Given the description of an element on the screen output the (x, y) to click on. 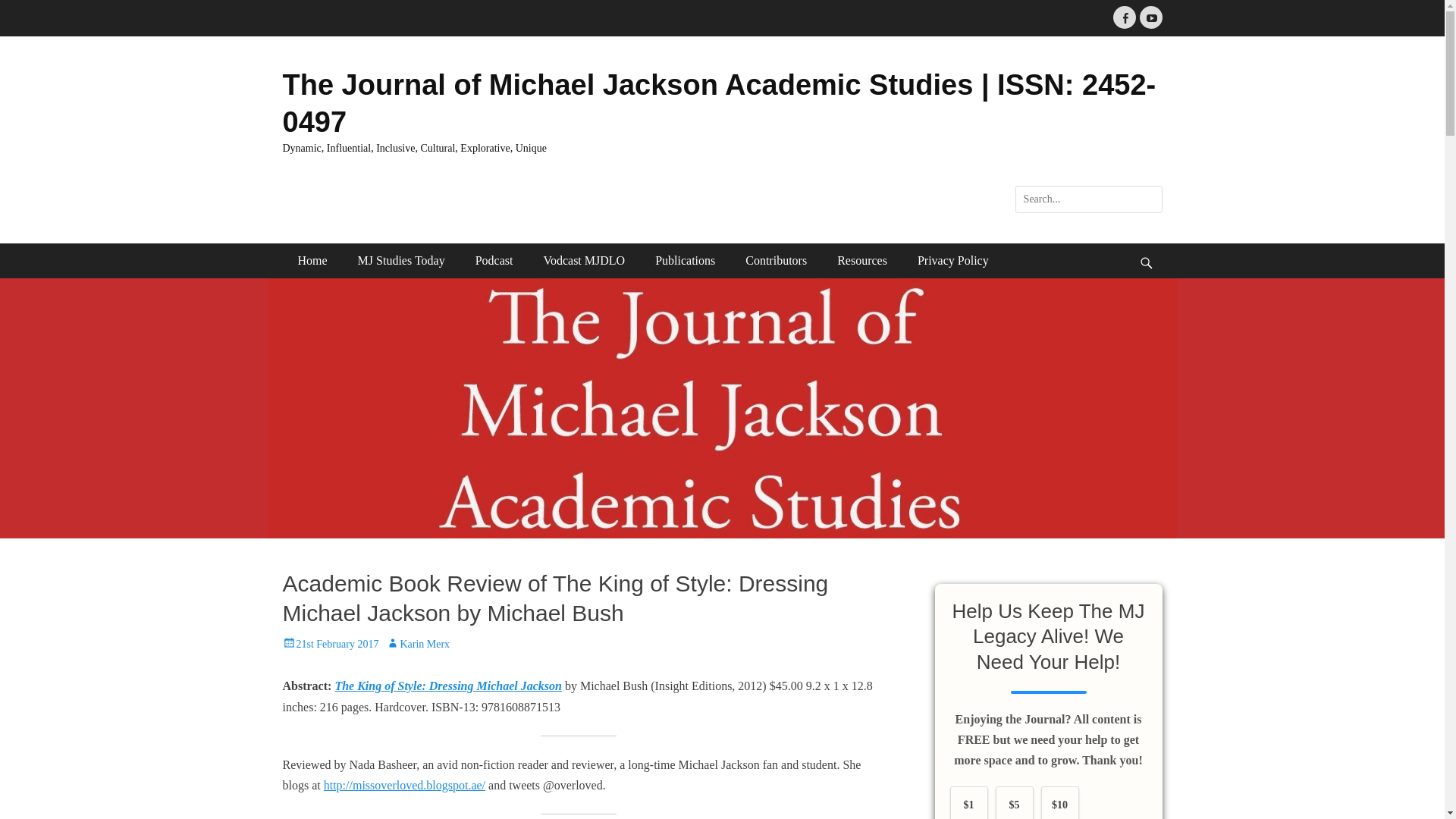
YouTube (1149, 16)
Privacy Policy (953, 260)
Karin Merx (417, 644)
21st February 2017 (330, 644)
Search (22, 9)
The King of Style: Dressing Michael Jackson (448, 685)
Publications (685, 260)
Vodcast MJDLO (583, 260)
Search for: (1087, 198)
